Given the description of an element on the screen output the (x, y) to click on. 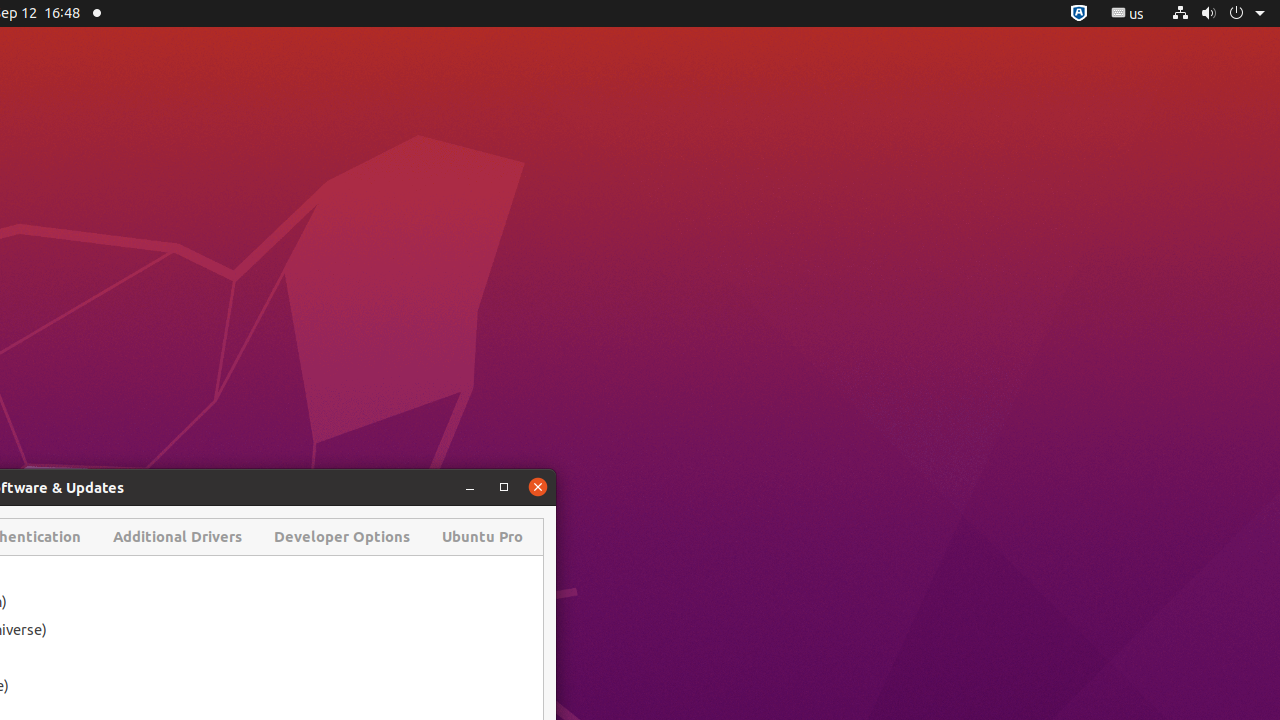
Developer Options Element type: page-tab (342, 537)
Additional Drivers Element type: page-tab (177, 537)
